Given the description of an element on the screen output the (x, y) to click on. 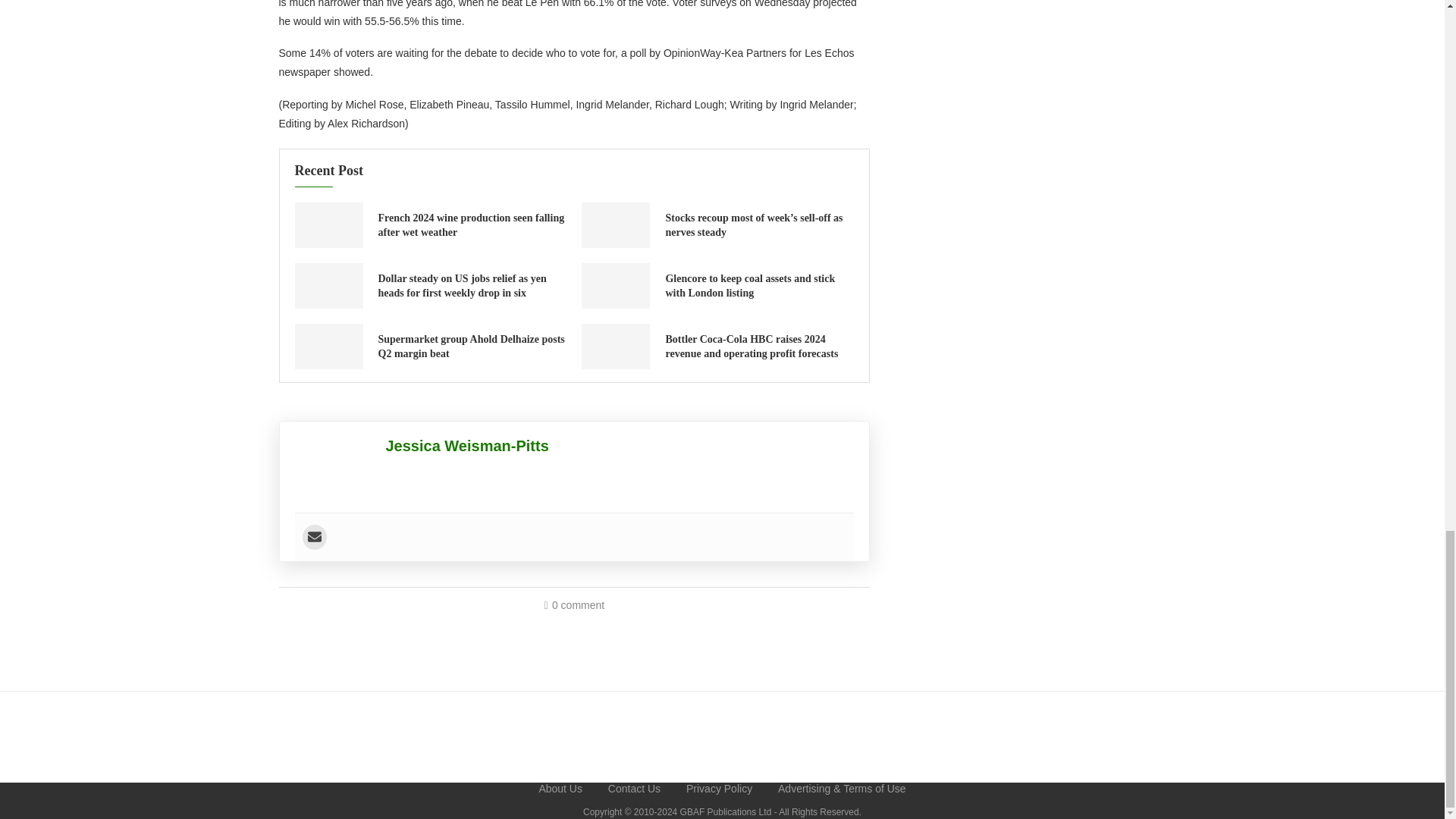
User email (313, 536)
Privacy Policy (718, 788)
About Us (560, 788)
French 2024 wine production seen falling after wet weather (470, 225)
Contact Us (634, 788)
Jessica Weisman-Pitts (466, 445)
Supermarket group Ahold Delhaize posts Q2 margin beat (328, 346)
